Given the description of an element on the screen output the (x, y) to click on. 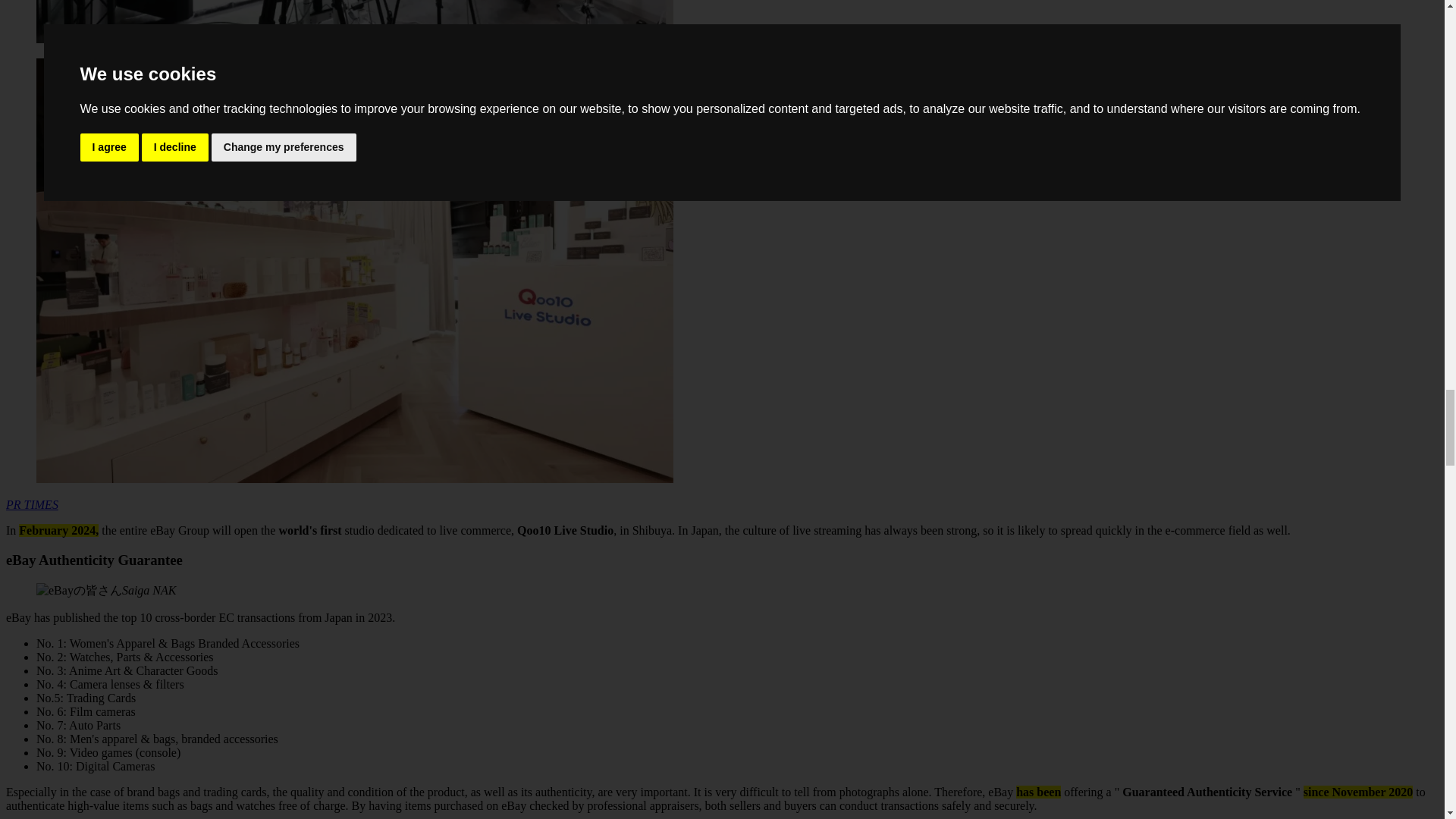
PR TIMES (31, 504)
